Given the description of an element on the screen output the (x, y) to click on. 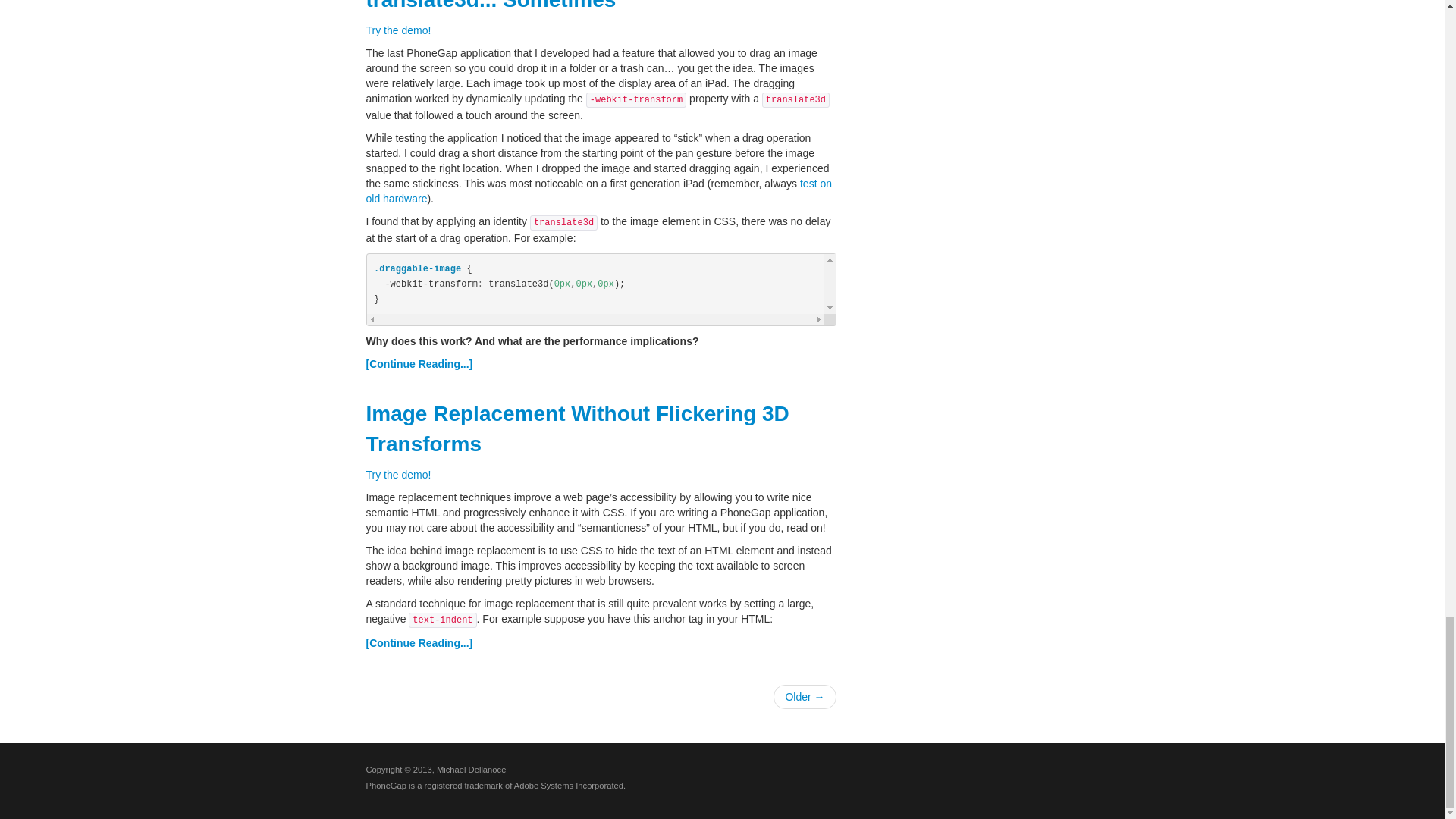
Try the demo! (397, 474)
Try the demo! (397, 30)
test on old hardware (598, 190)
Force Hardware Acceleration with translate3d... Sometimes (535, 5)
Image Replacement Without Flickering 3D Transforms (577, 428)
